Given the description of an element on the screen output the (x, y) to click on. 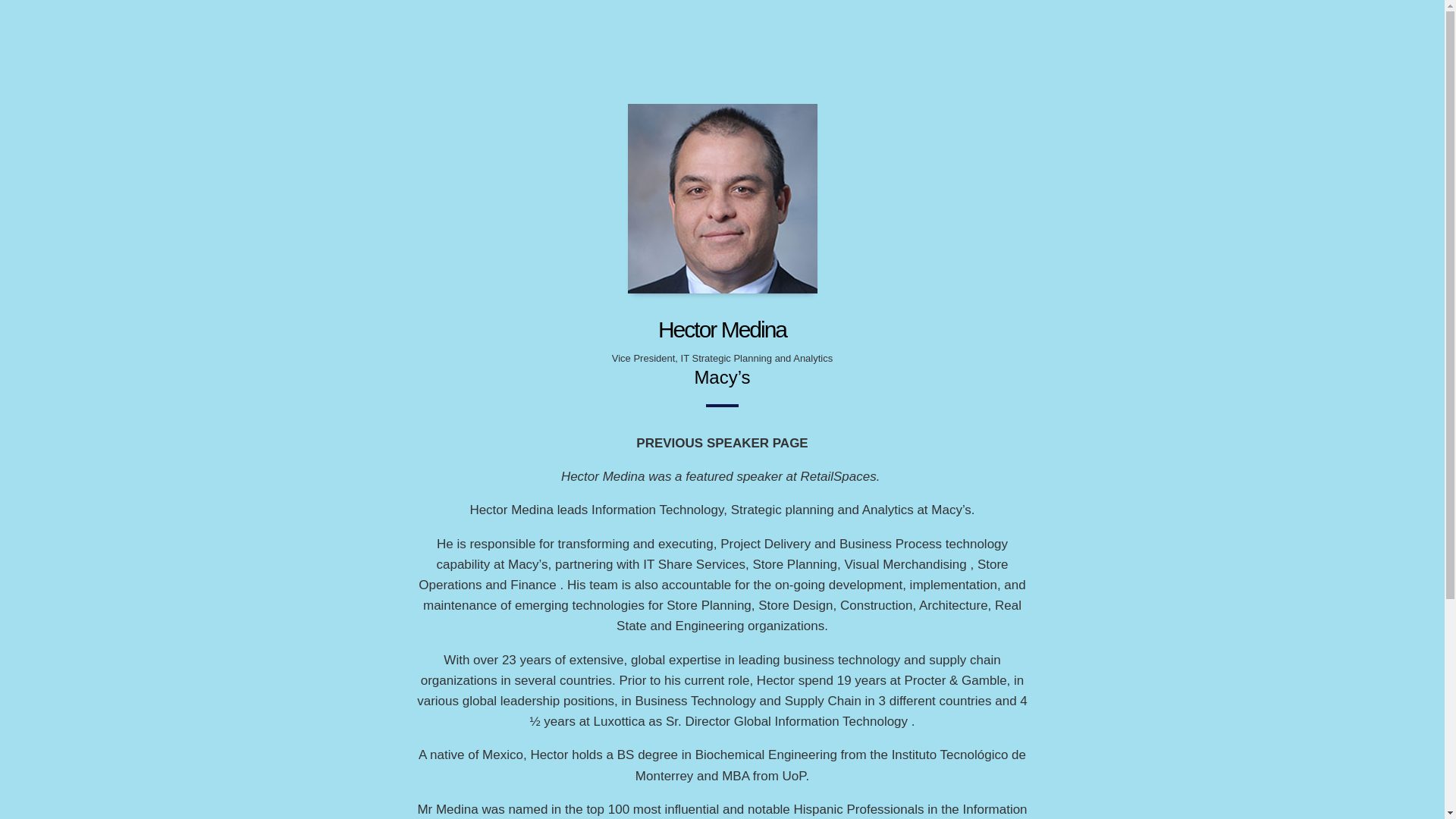
hectormedinamacys (721, 198)
